Given the description of an element on the screen output the (x, y) to click on. 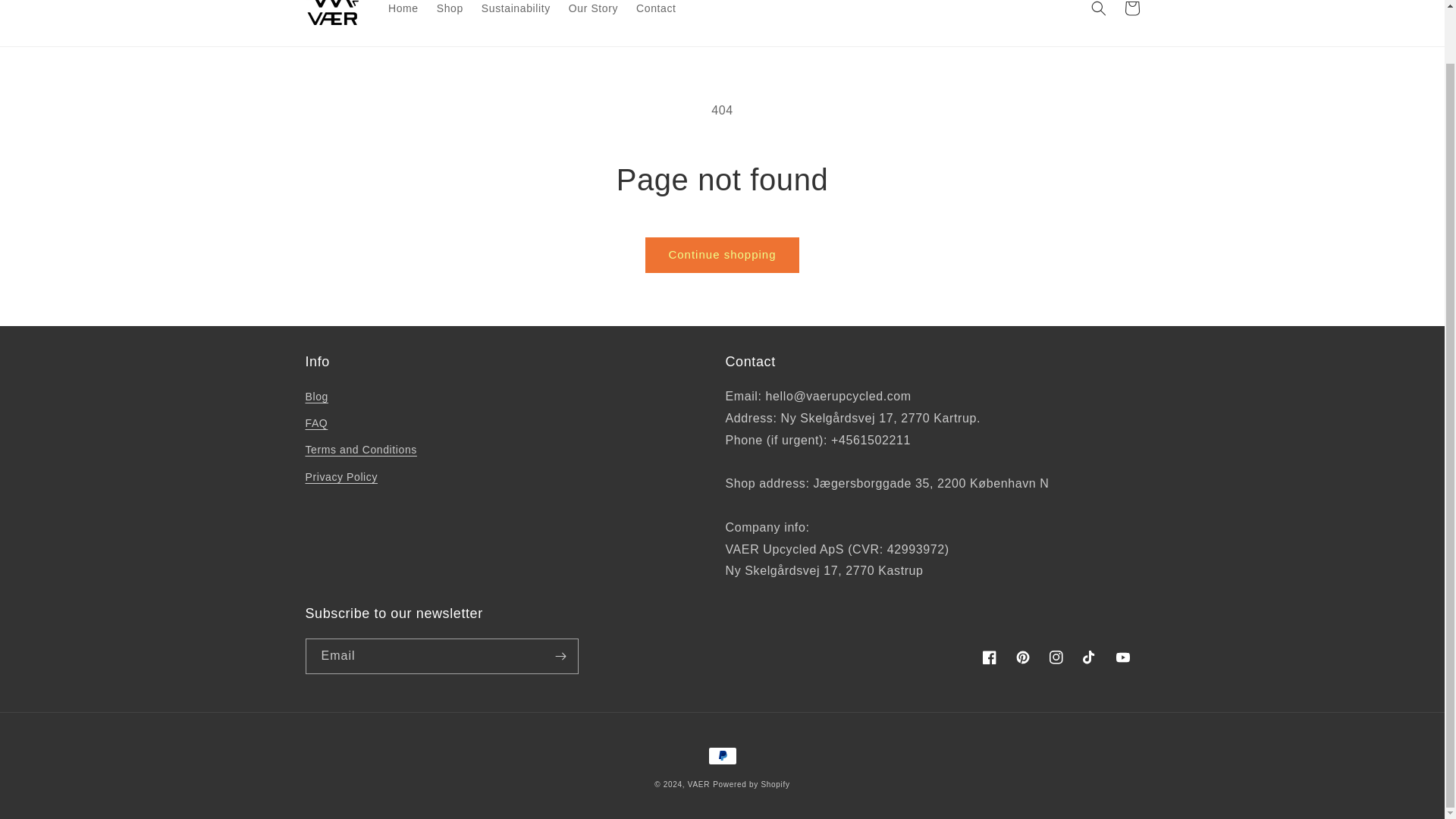
Terms and Conditions (360, 449)
Shop (449, 12)
Our Story (593, 12)
Facebook (989, 657)
Blog (315, 398)
Sustainability (515, 12)
VAER (698, 784)
Privacy Policy (340, 477)
Cart (1131, 12)
YouTube (1121, 657)
Continue shopping (721, 254)
Powered by Shopify (751, 784)
TikTok (1088, 657)
Pinterest (1022, 657)
Home (403, 12)
